Given the description of an element on the screen output the (x, y) to click on. 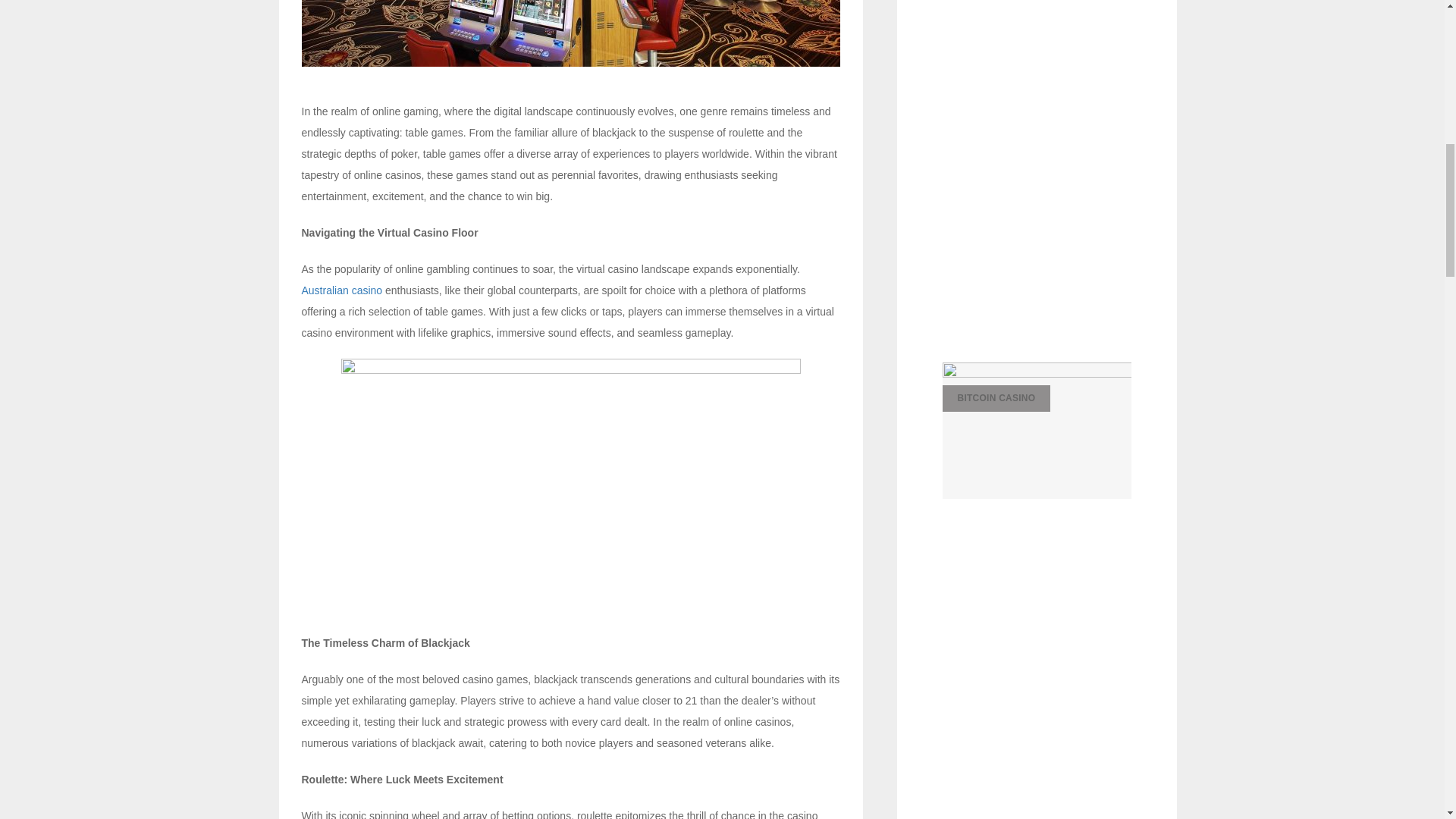
Australian casino (341, 290)
